Given the description of an element on the screen output the (x, y) to click on. 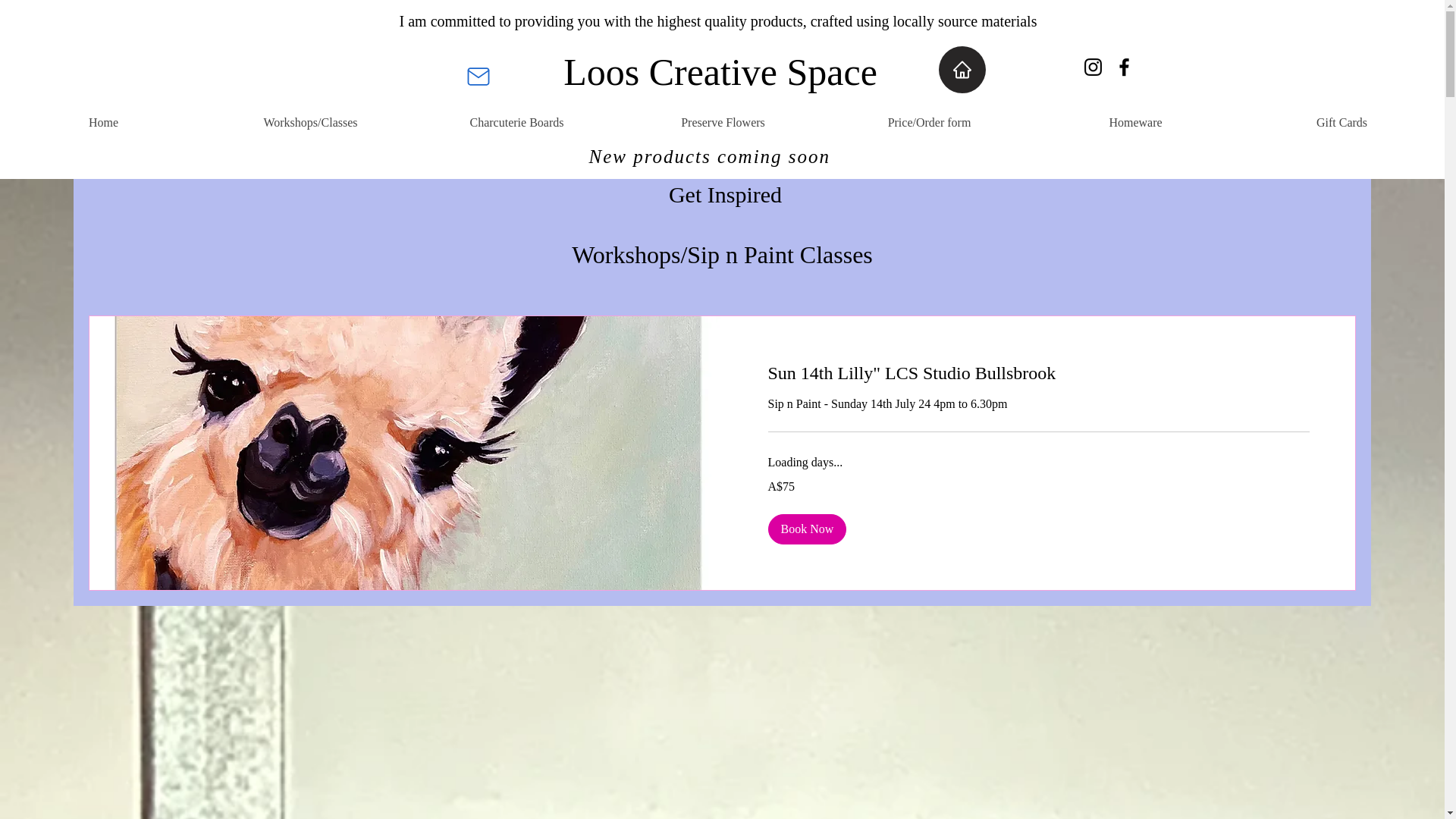
Sun 14th Lilly" LCS Studio Bullsbrook (1037, 373)
Book Now (806, 529)
